Given the description of an element on the screen output the (x, y) to click on. 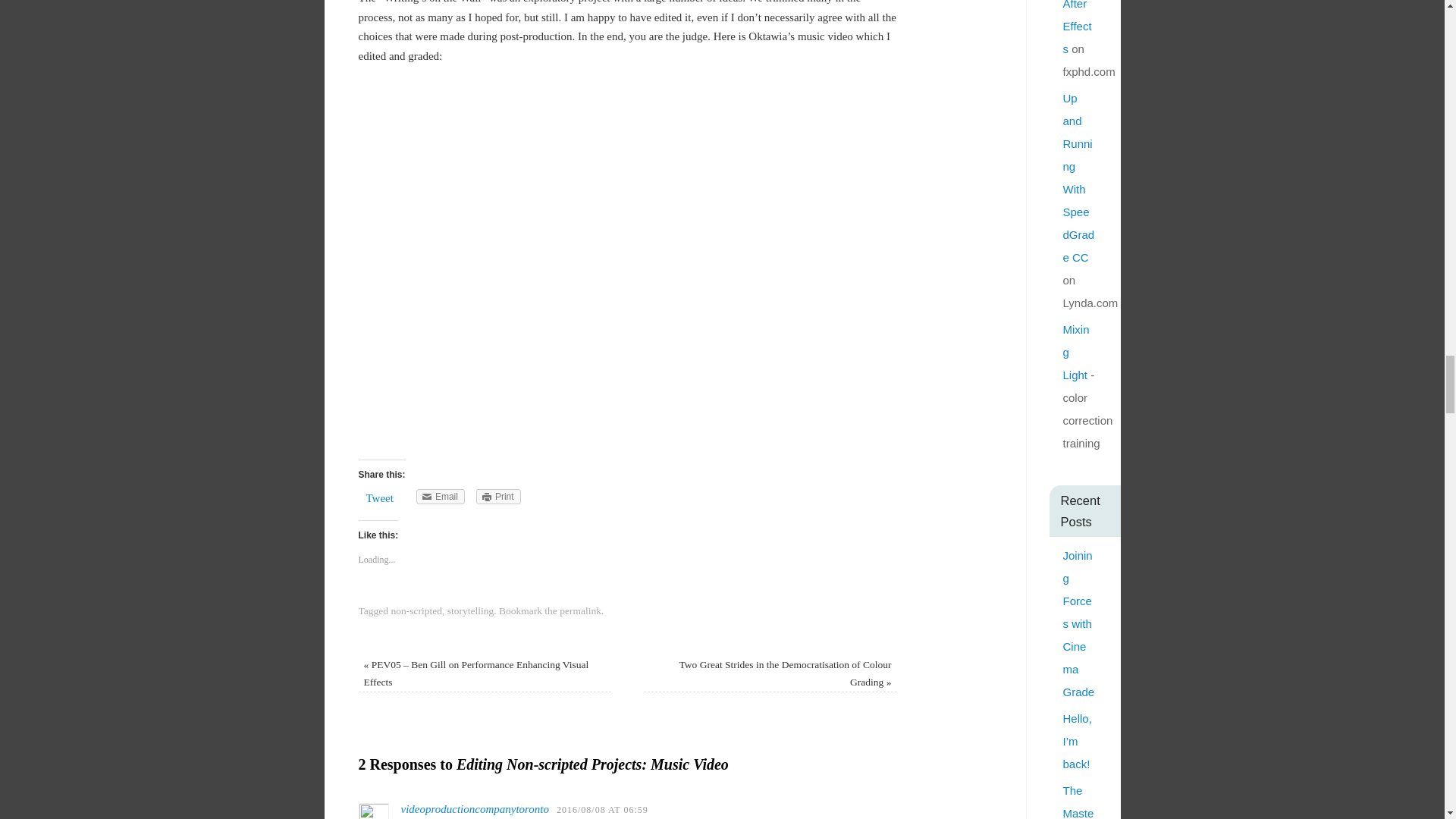
Click to print (498, 496)
non-scripted (415, 610)
Permalink to Editing Non-scripted Projects: Music Video (580, 610)
Email (440, 496)
permalink (580, 610)
videoproductioncompanytoronto (474, 808)
Print (498, 496)
Tweet (379, 498)
storytelling (470, 610)
Click to email this to a friend (440, 496)
